Given the description of an element on the screen output the (x, y) to click on. 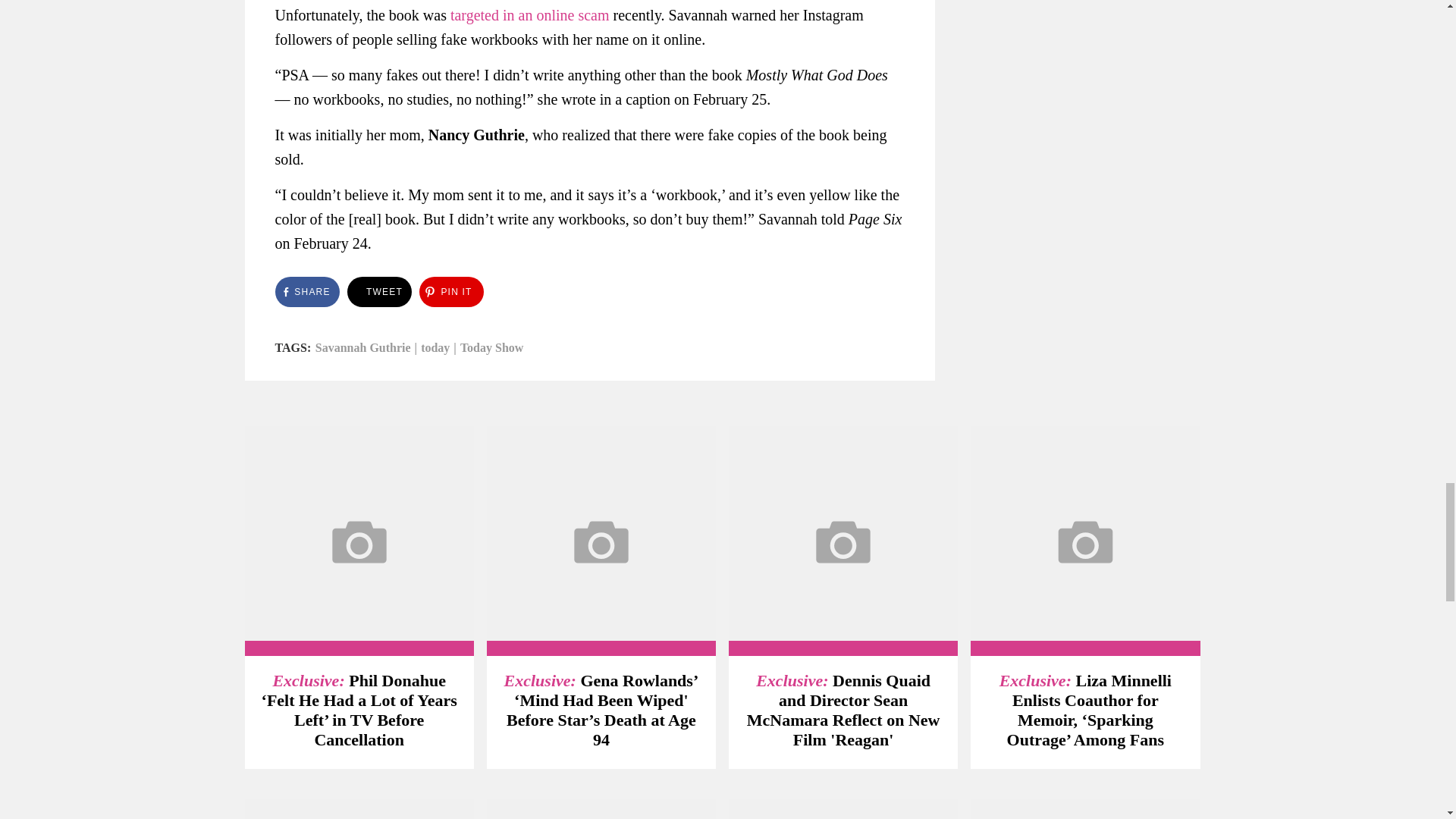
Click to share on Facebook (307, 291)
Click to share on Pinterest (451, 291)
Click to share on Twitter (379, 291)
